Given the description of an element on the screen output the (x, y) to click on. 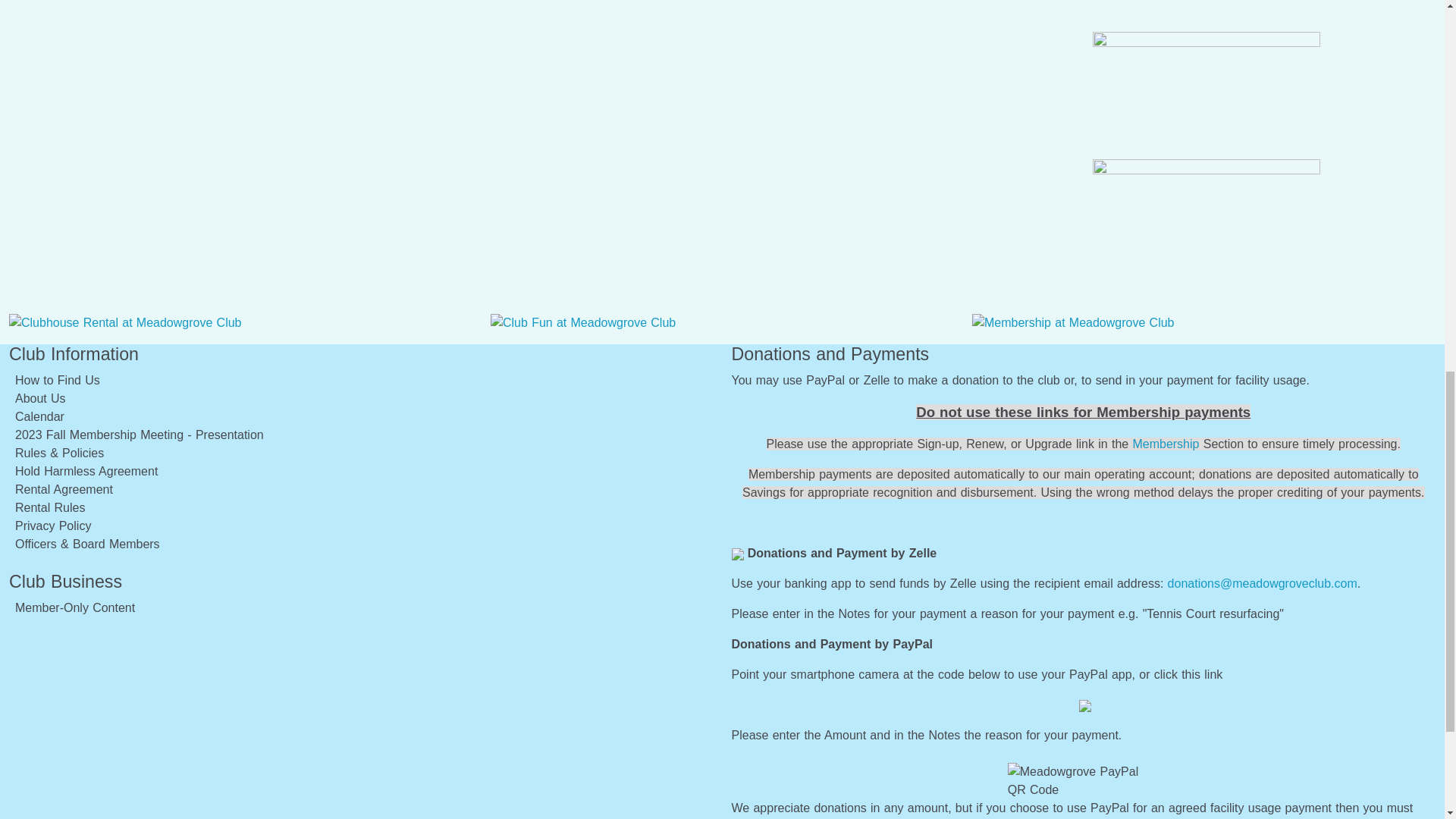
About Us (39, 398)
Events at Meadowgrove Club (582, 322)
How to Find Us (57, 379)
Clubhouse Rental at Meadowgrove Club (124, 322)
2023 Fall Membership Meeting - Presentation (138, 434)
Events at Meadowgrove Club (582, 322)
Hold Harmless Agreement (85, 471)
Pay Meadowgrove Club with PayPal (1084, 704)
Meadowgrove PayPal QR Code (1082, 780)
Calendar (39, 416)
Membership at Meadowgrove Club (1073, 322)
